Given the description of an element on the screen output the (x, y) to click on. 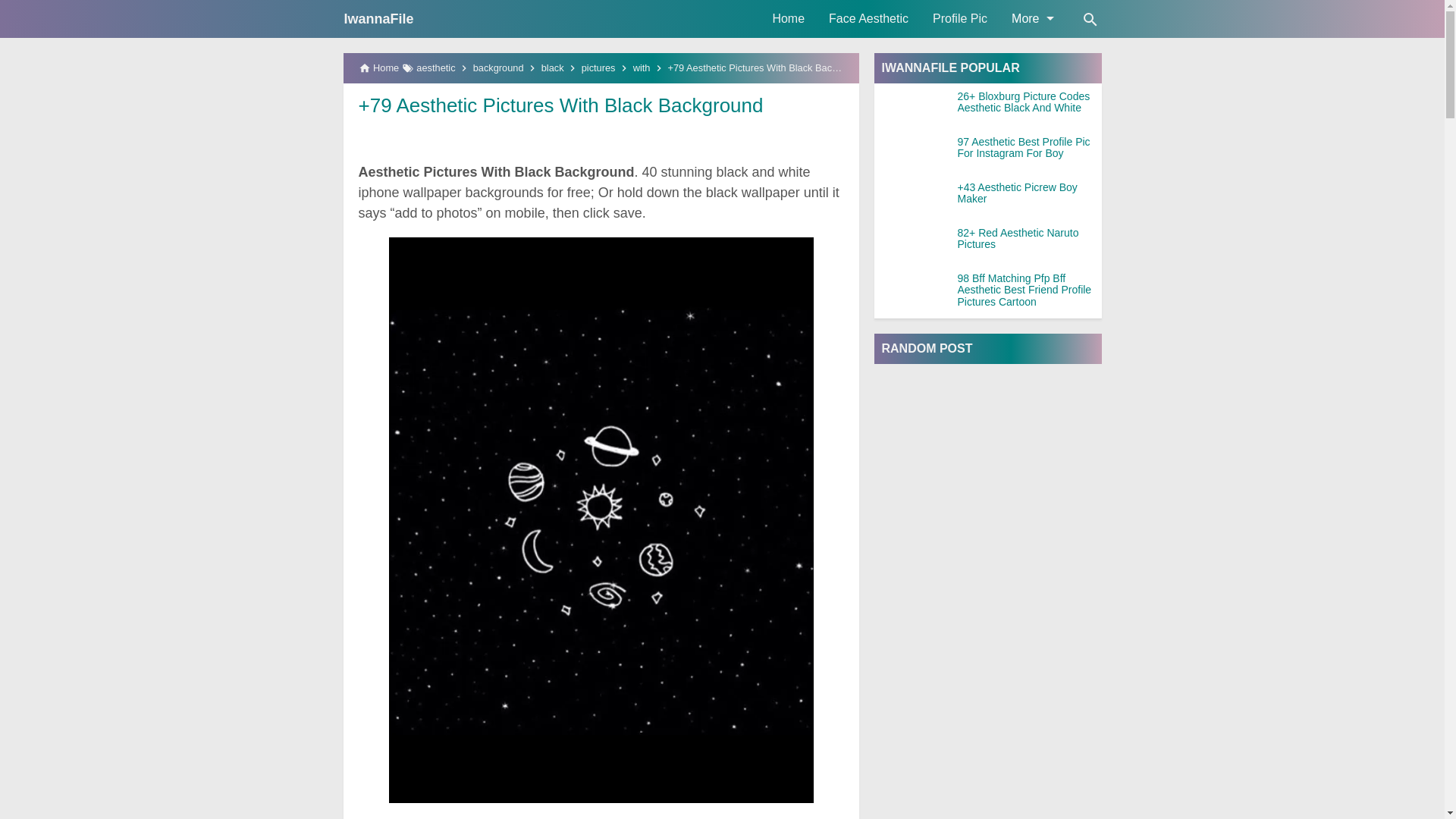
pictures (597, 68)
97 Aesthetic Best Profile Pic For Instagram For Boy (1028, 147)
IwannaFile (378, 18)
IwannaFile (378, 18)
background (498, 68)
Home (788, 18)
Profile Pic (959, 18)
Home (788, 18)
pictures (597, 68)
